Given the description of an element on the screen output the (x, y) to click on. 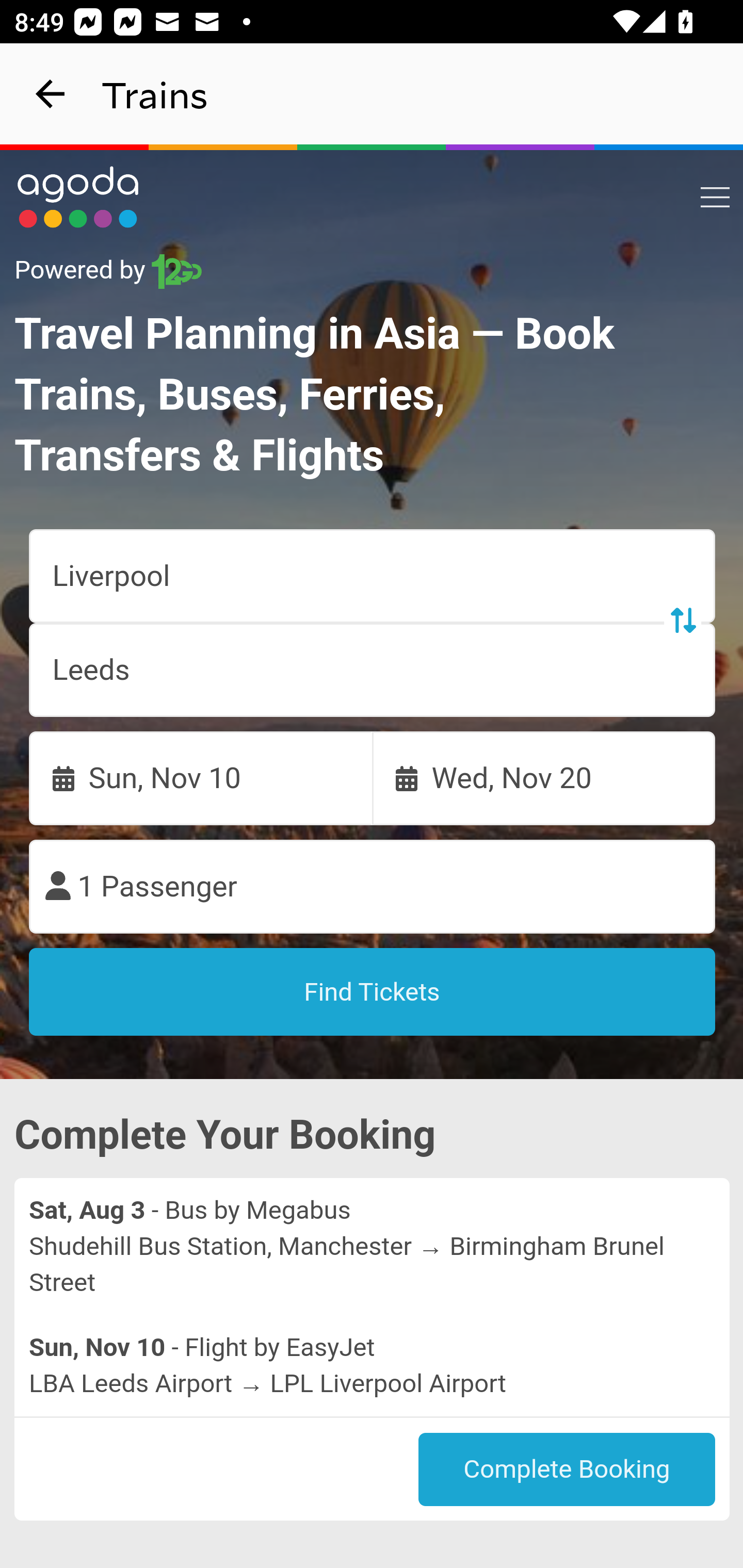
navigation_button (50, 93)
